Given the description of an element on the screen output the (x, y) to click on. 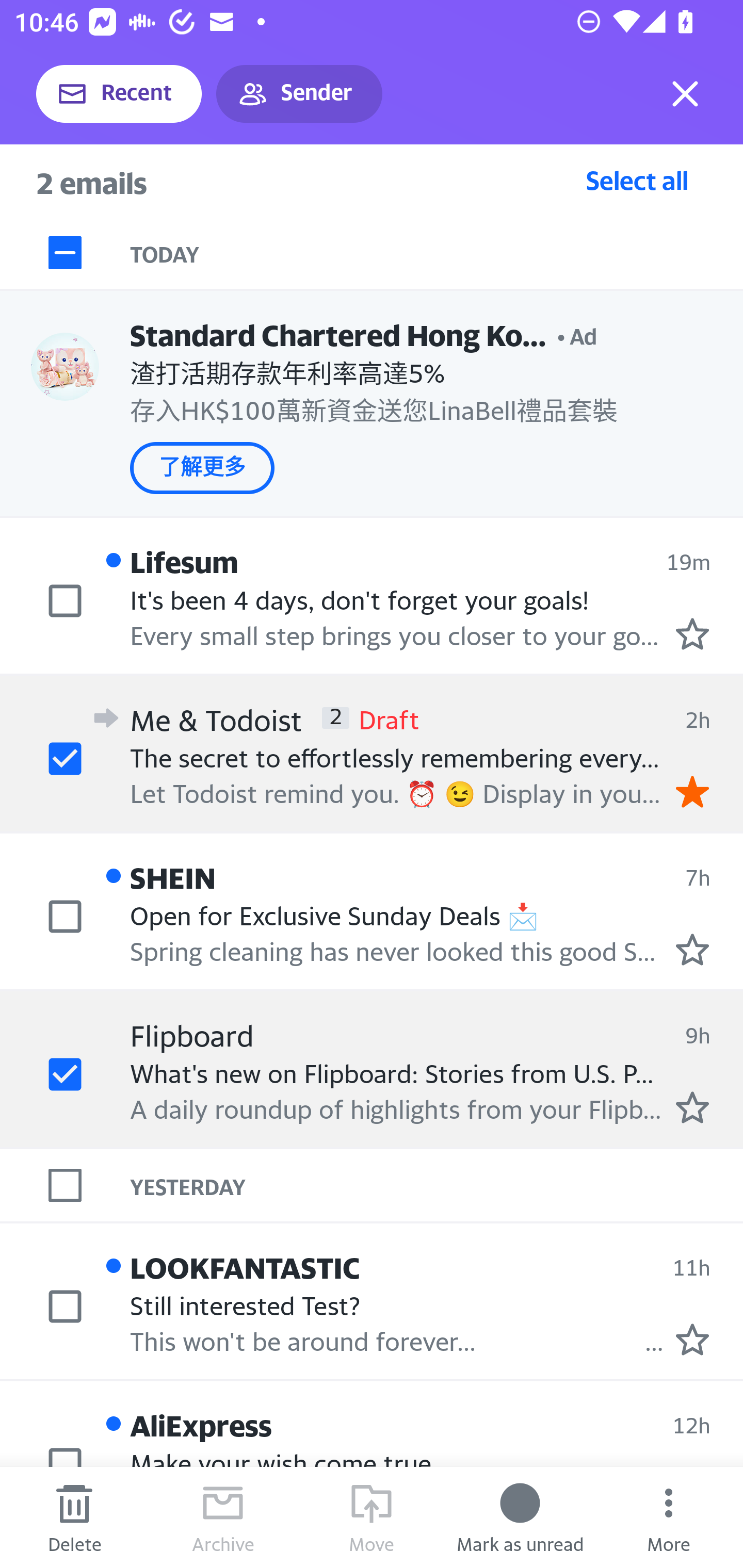
Sender (299, 93)
Exit selection mode (684, 93)
Select all (637, 180)
TODAY (436, 252)
Mark as starred. (692, 634)
Remove star. (692, 791)
Mark as starred. (692, 949)
Mark as starred. (692, 1107)
YESTERDAY (436, 1184)
Mark as starred. (692, 1339)
Delete (74, 1517)
Archive (222, 1517)
Move (371, 1517)
Mark as unread (519, 1517)
More (668, 1517)
